Given the description of an element on the screen output the (x, y) to click on. 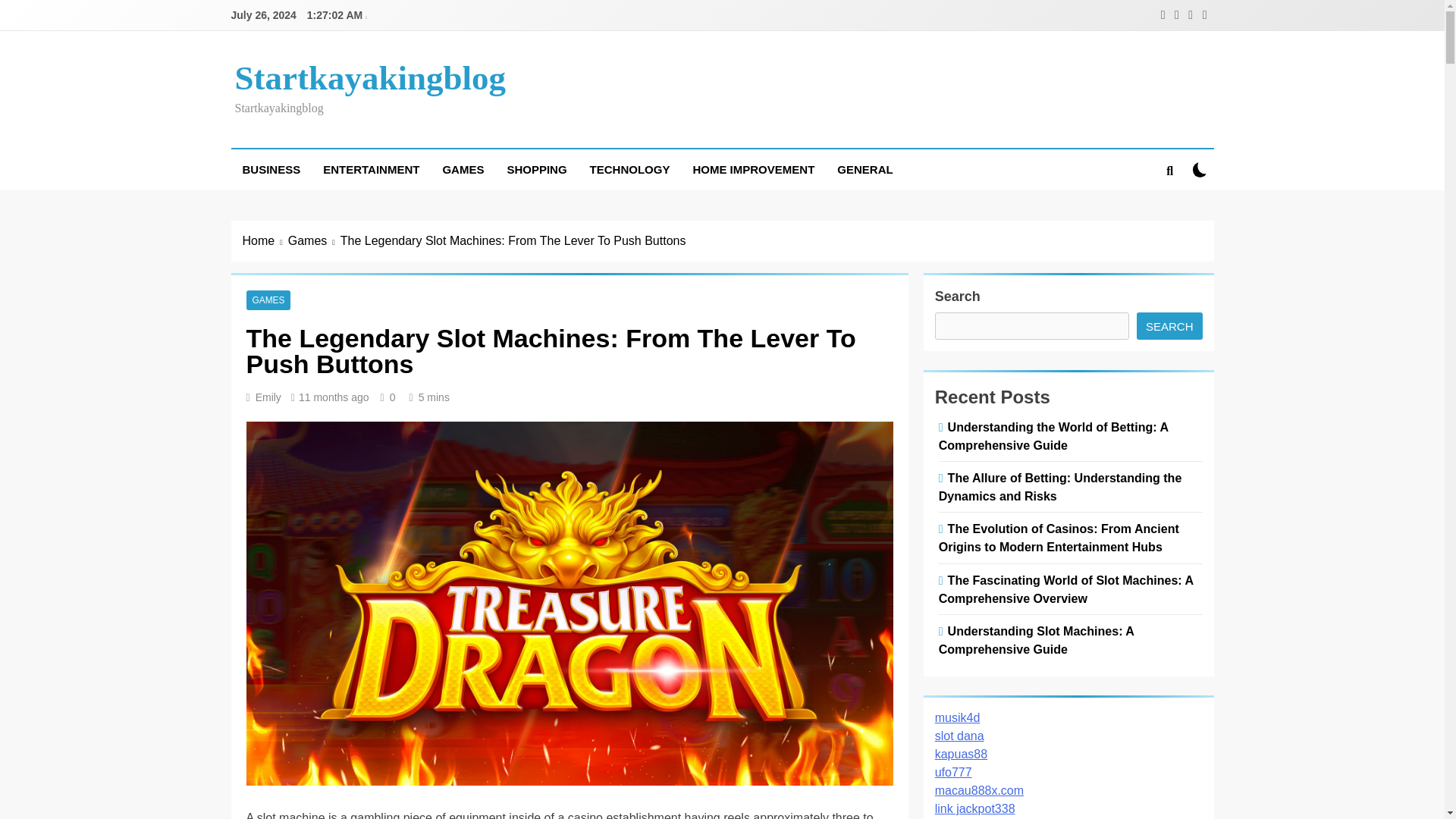
Startkayakingblog (370, 77)
Understanding the World of Betting: A Comprehensive Guide (1054, 436)
GENERAL (864, 169)
SHOPPING (536, 169)
GAMES (267, 299)
ENTERTAINMENT (370, 169)
on (1199, 169)
GAMES (462, 169)
TECHNOLOGY (629, 169)
11 months ago (333, 397)
Home (265, 240)
SEARCH (1169, 325)
HOME IMPROVEMENT (753, 169)
Games (314, 240)
BUSINESS (270, 169)
